Given the description of an element on the screen output the (x, y) to click on. 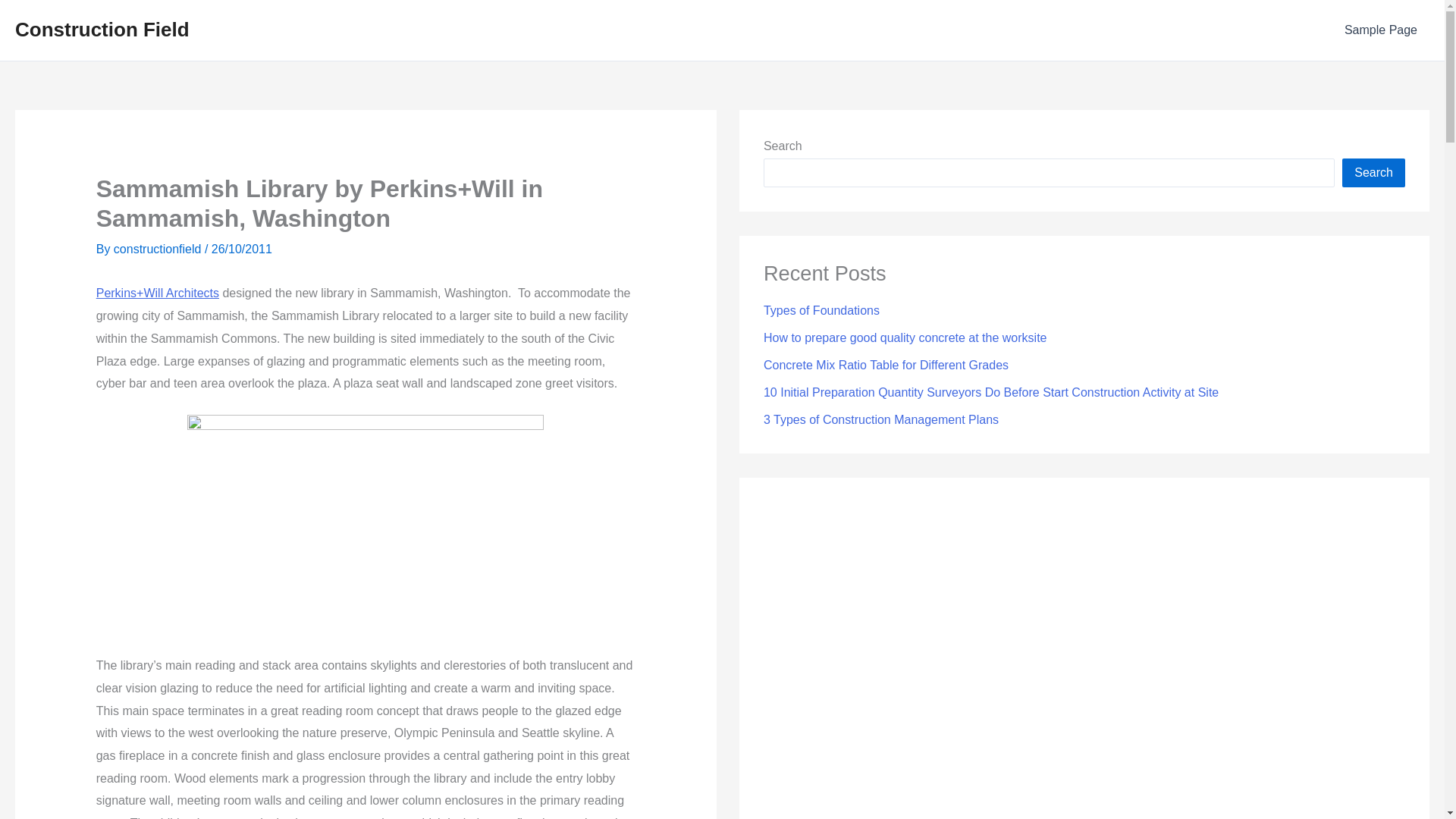
How to prepare good quality concrete at the worksite (904, 337)
Concrete Mix Ratio Table for Different Grades (885, 364)
3 Types of Construction Management Plans (880, 419)
Construction Field (101, 29)
Sample Page (1380, 30)
View all posts by constructionfield (159, 248)
Types of Foundations (820, 309)
Search (1373, 172)
constructionfield (159, 248)
